Given the description of an element on the screen output the (x, y) to click on. 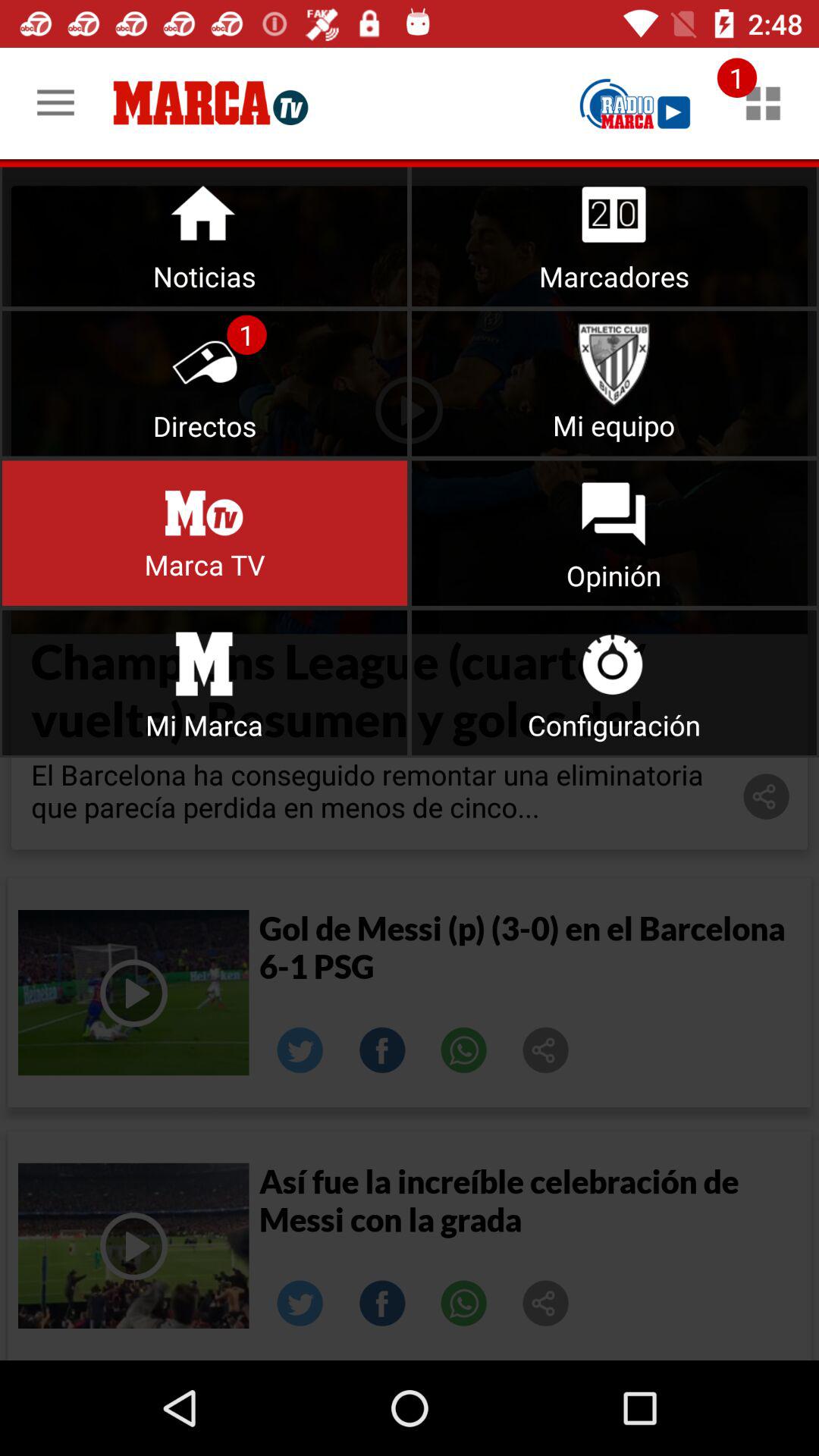
go to marca tv (204, 532)
